Given the description of an element on the screen output the (x, y) to click on. 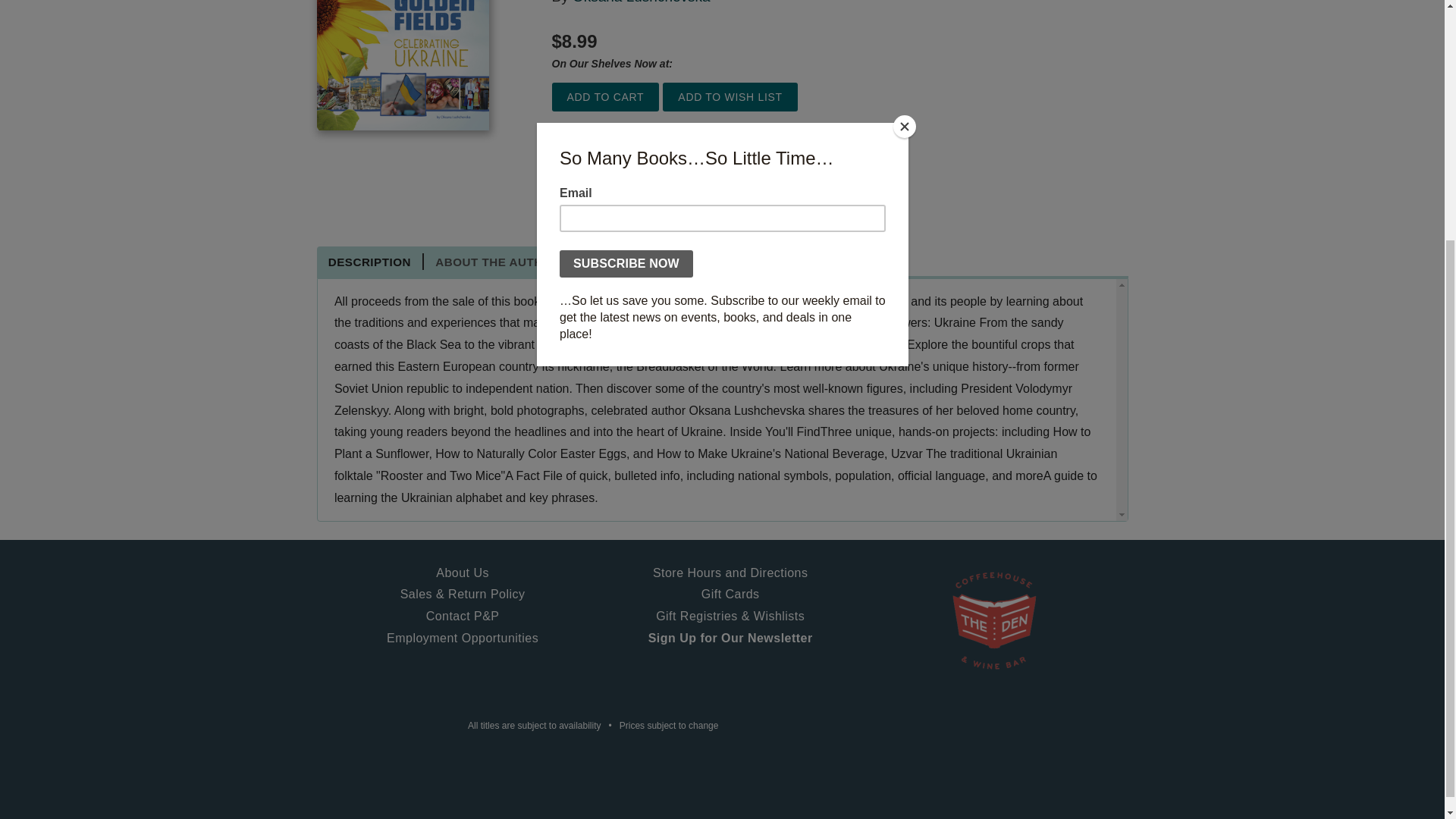
Add to Wish List (729, 97)
Add to Cart (605, 97)
